Given the description of an element on the screen output the (x, y) to click on. 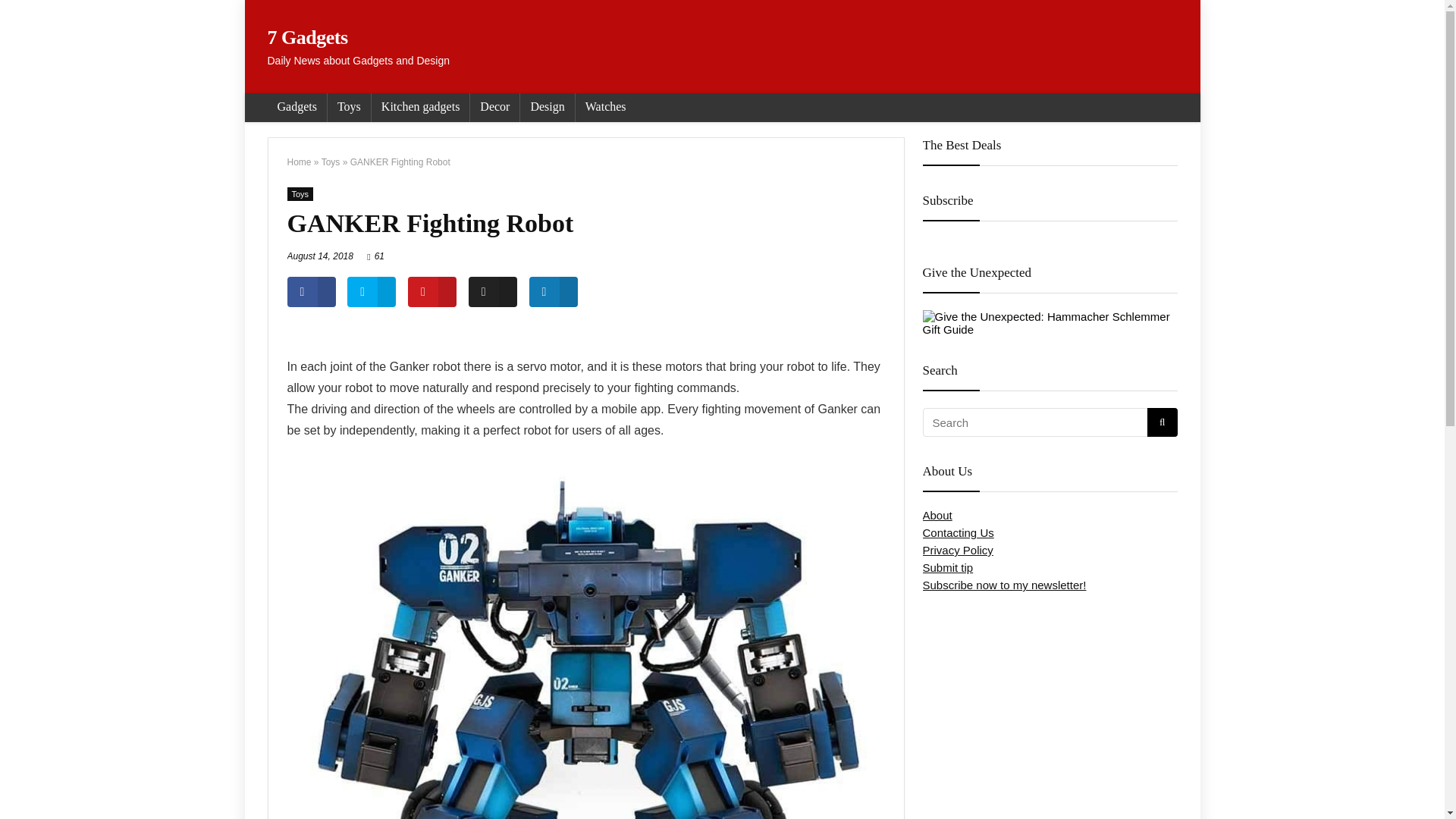
Home (298, 162)
Toys (349, 107)
Toys (299, 193)
Watches (605, 107)
View all posts in Toys (299, 193)
Decor (494, 107)
Privacy Policy (956, 549)
About (936, 514)
Toys (330, 162)
Kitchen gadgets (420, 107)
Design (546, 107)
Gadgets (296, 107)
Contacting Us (956, 532)
